Given the description of an element on the screen output the (x, y) to click on. 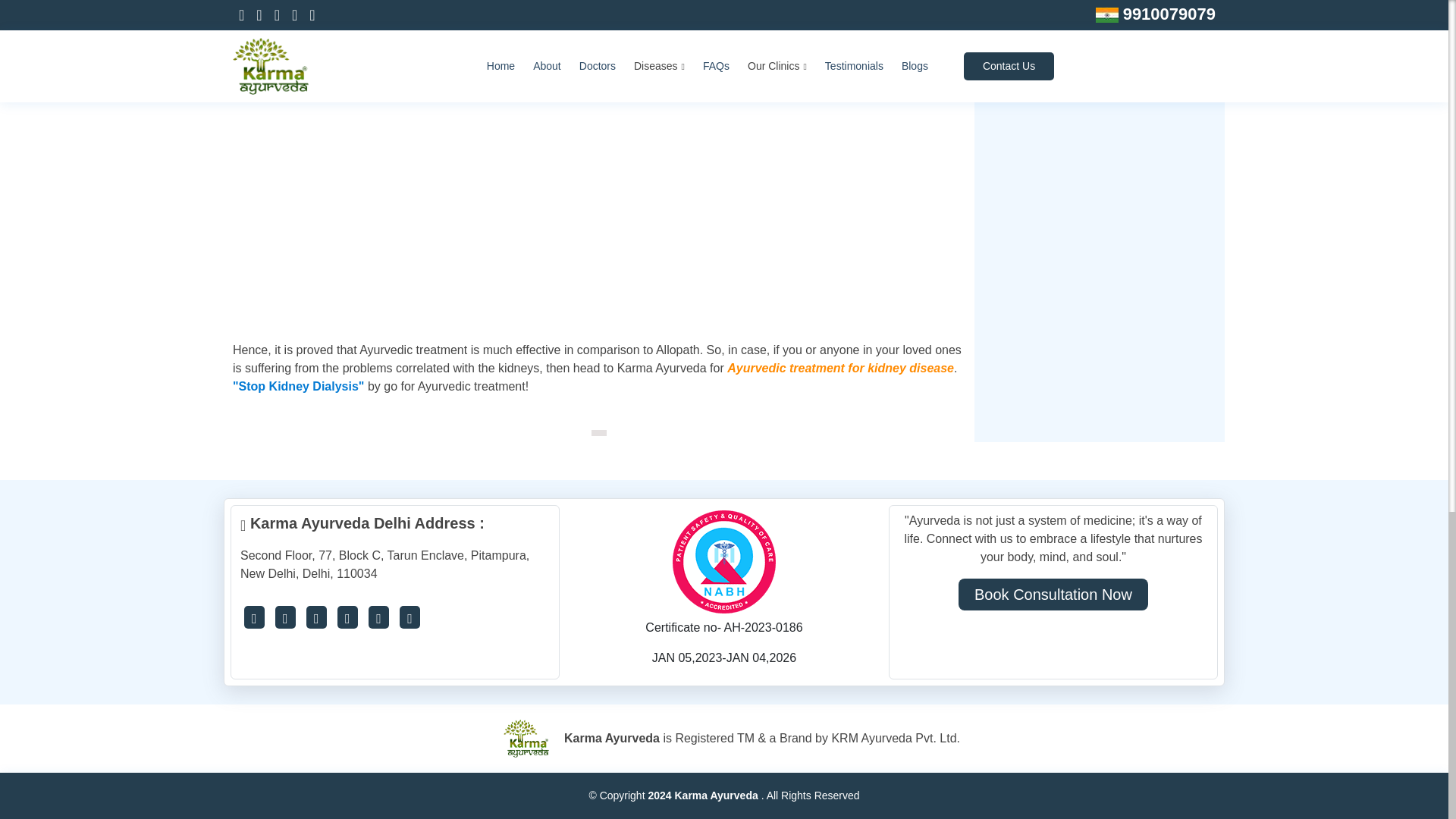
karma-ayurveda-logo (525, 738)
